Given the description of an element on the screen output the (x, y) to click on. 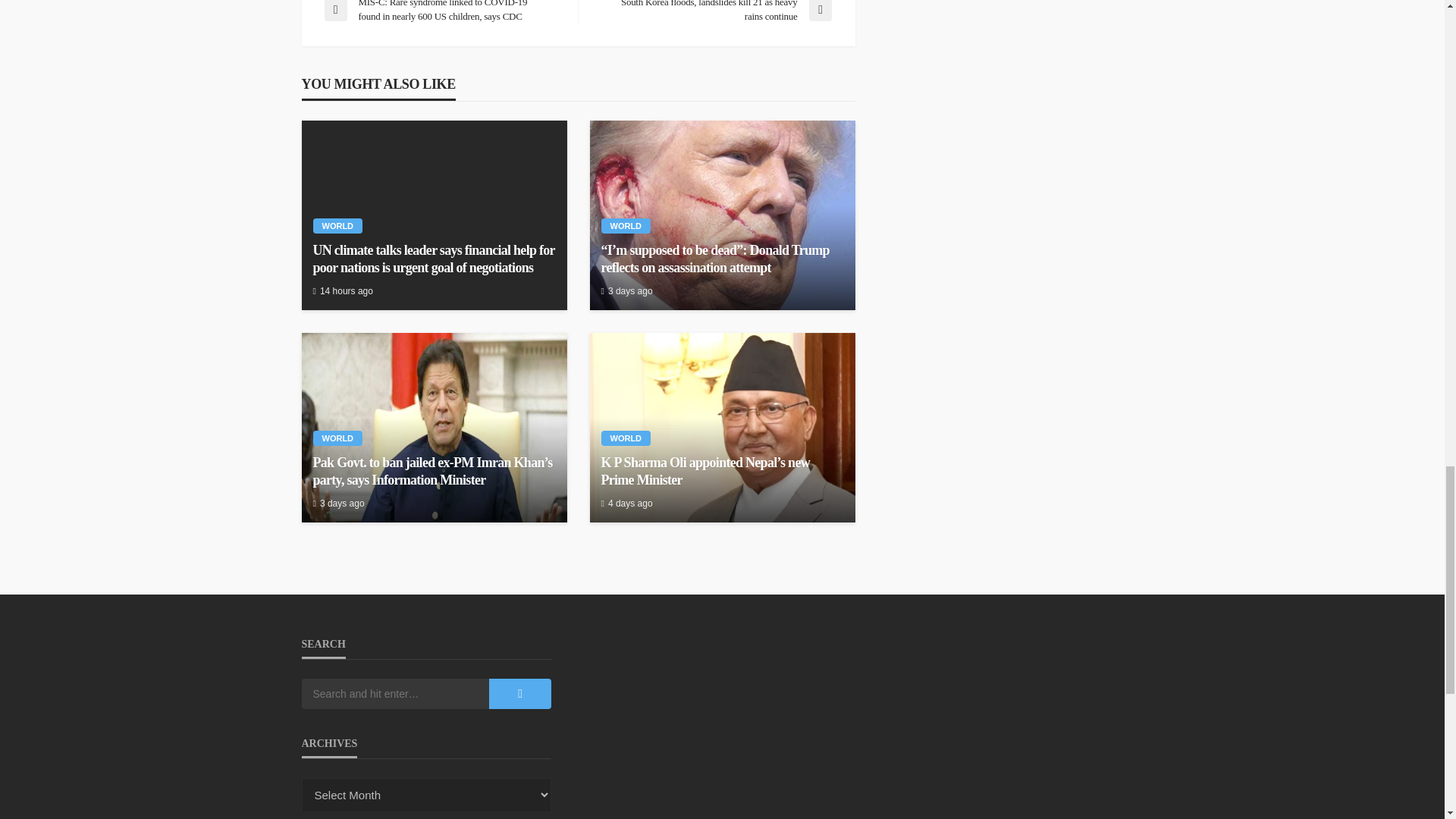
World (337, 225)
World (624, 225)
